Given the description of an element on the screen output the (x, y) to click on. 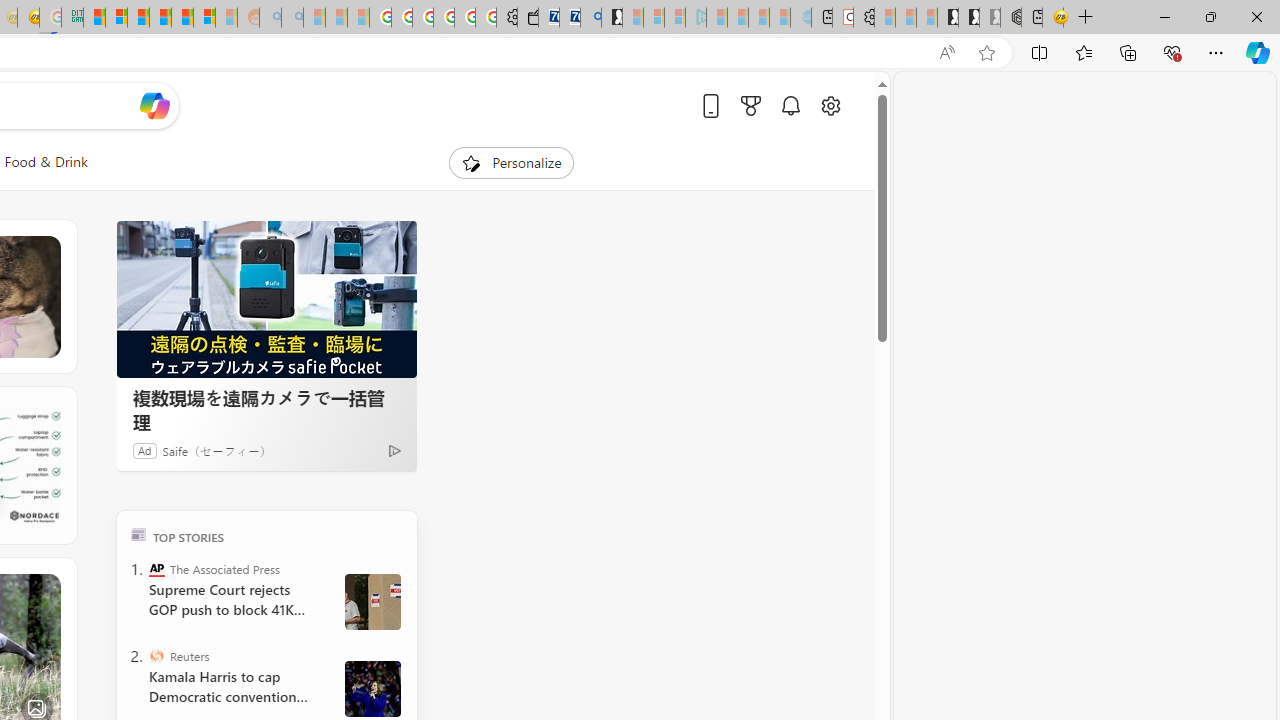
Cheap Car Rentals - Save70.com (569, 17)
TOP (138, 534)
